Given the description of an element on the screen output the (x, y) to click on. 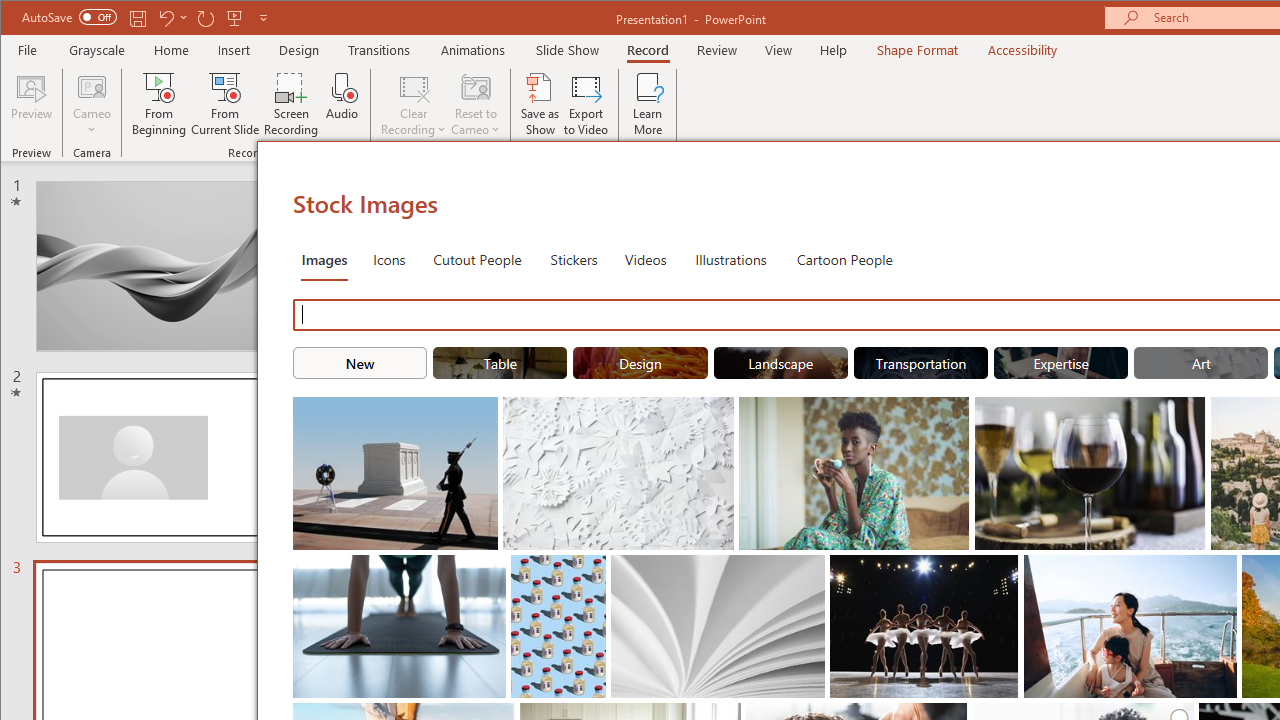
Export to Video (585, 104)
Illustrations (730, 258)
Videos (645, 258)
Grayscale (97, 50)
Shape Format (916, 50)
Icons (388, 258)
From Current Slide... (225, 104)
